Given the description of an element on the screen output the (x, y) to click on. 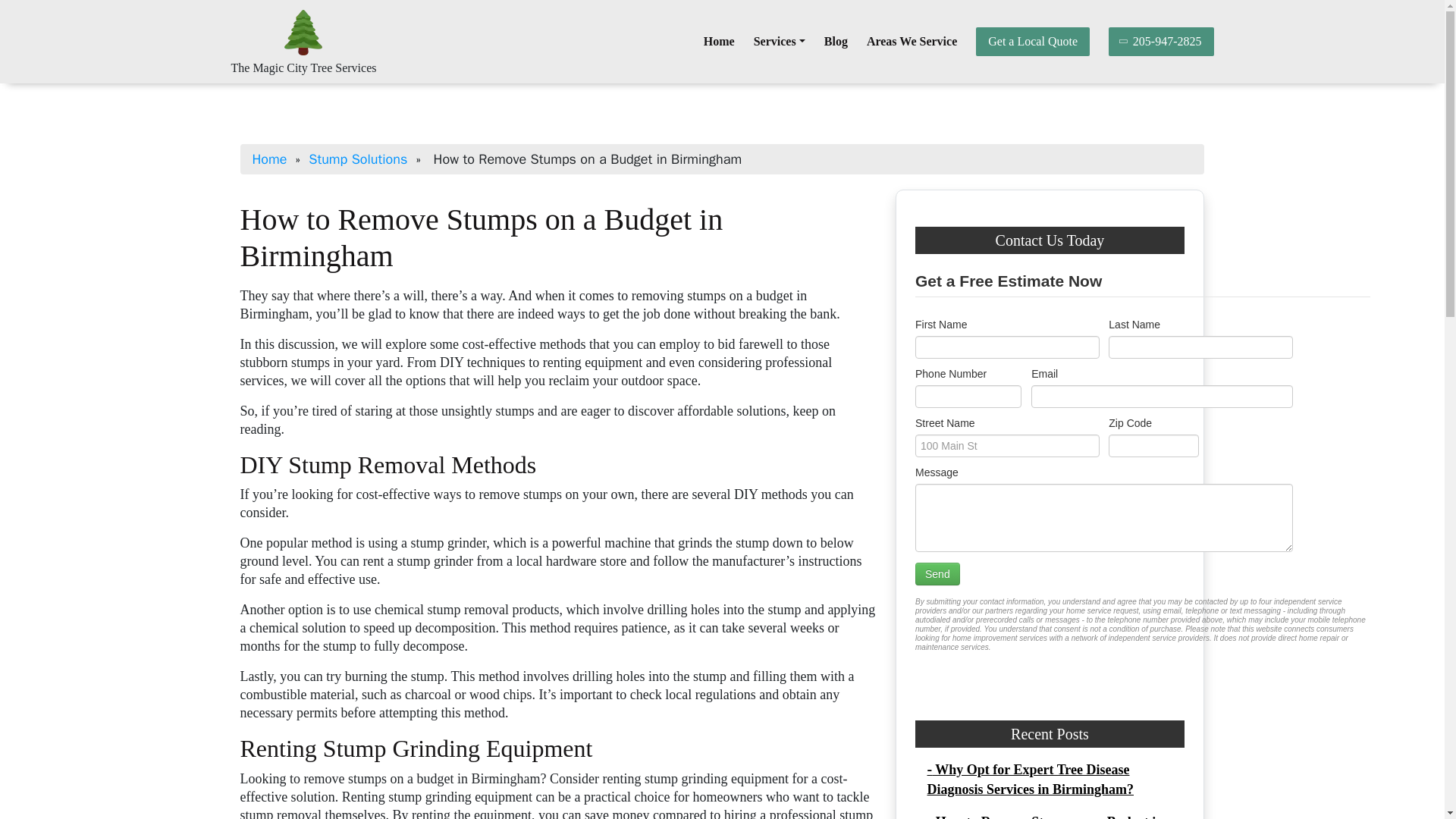
Services (779, 41)
Home (268, 158)
Areas We Service (911, 41)
Stump Solutions (357, 158)
Areas We Service (911, 41)
The Magic City Tree Services (302, 67)
Get a Local Quote (1032, 41)
205-947-2825 (1161, 41)
Home (719, 41)
- How to Remove Stumps on a Budget in Birmingham (1044, 816)
Home (719, 41)
Services (779, 41)
